Given the description of an element on the screen output the (x, y) to click on. 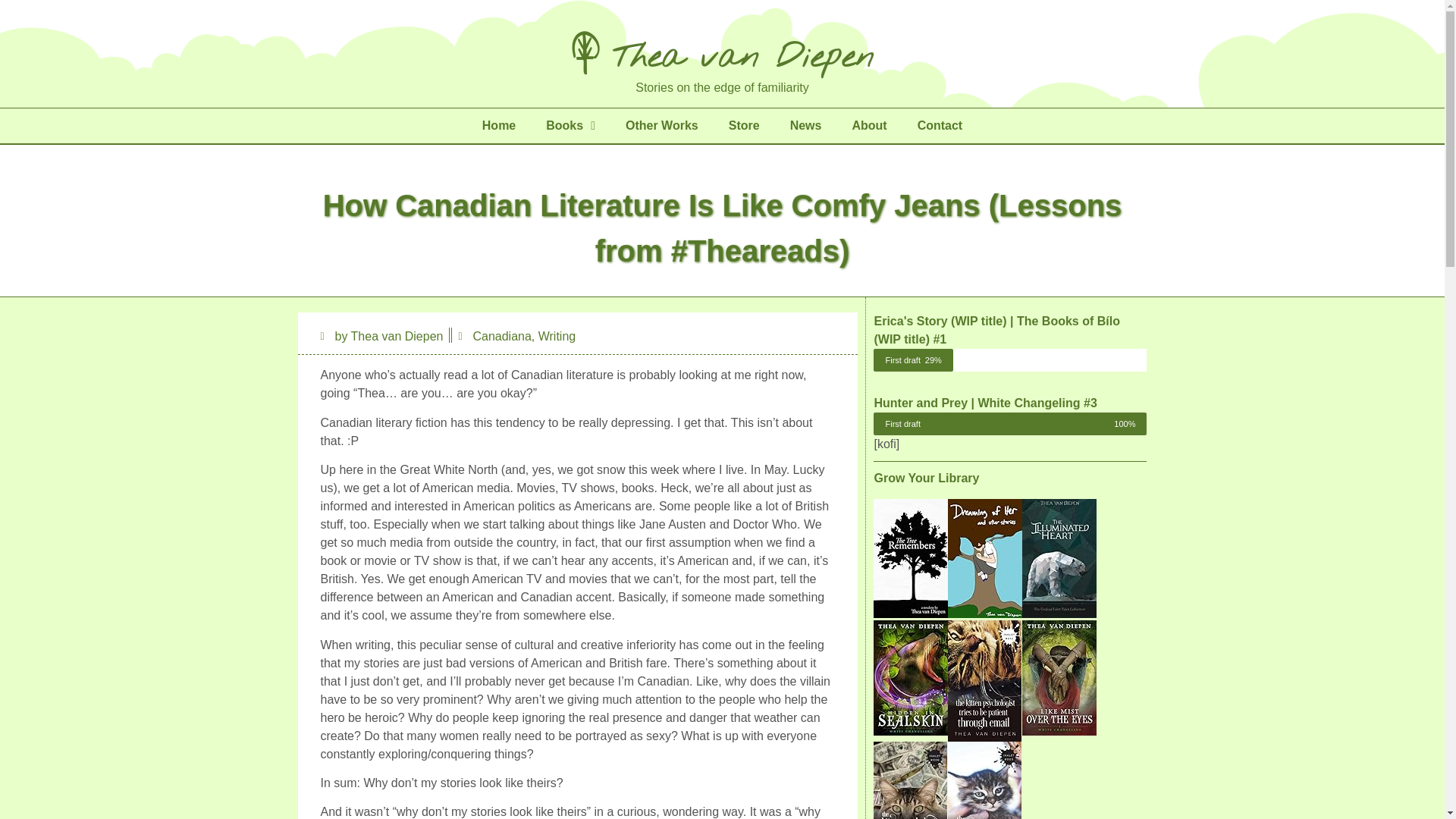
News (805, 125)
Contact (940, 125)
The Kitten Psychologist Tries to Be Patient Through Email (984, 737)
Other Works (661, 125)
Writing (557, 336)
Home (499, 125)
The Tree Remembers (910, 613)
Thea van Diepen (721, 54)
Books (570, 125)
About (868, 125)
Dreaming of Her and Other Stories (984, 613)
The Illuminated Heart (1059, 613)
Canadiana (501, 336)
Store (743, 125)
